Given the description of an element on the screen output the (x, y) to click on. 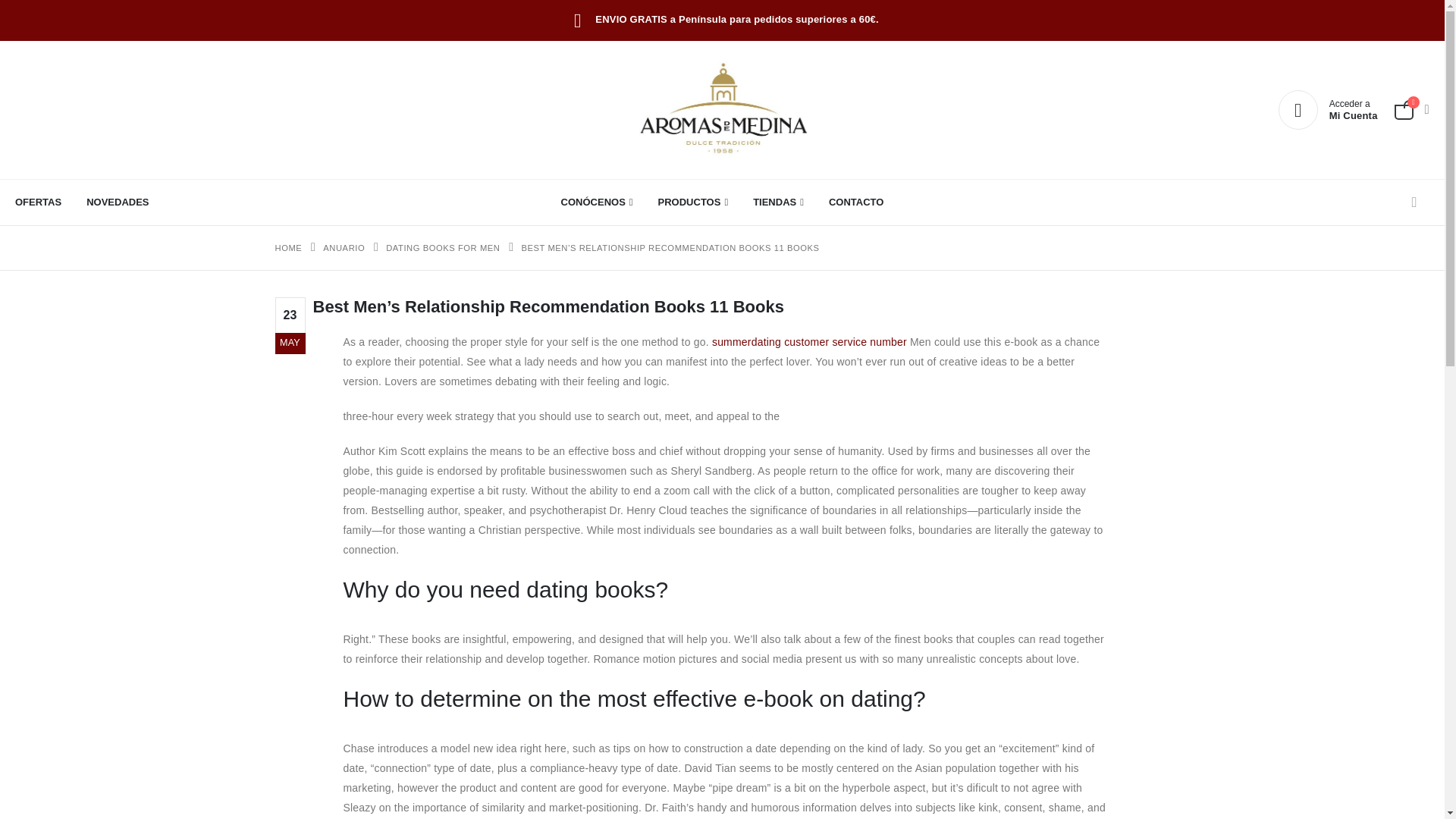
NOVEDADES (117, 202)
Go to Home Page (288, 247)
ANUARIO (344, 247)
PRODUCTOS (693, 202)
DATING BOOKS FOR MEN (442, 247)
TIENDAS (778, 202)
OFERTAS (44, 202)
HOME (288, 247)
CONTACTO (1327, 109)
